Given the description of an element on the screen output the (x, y) to click on. 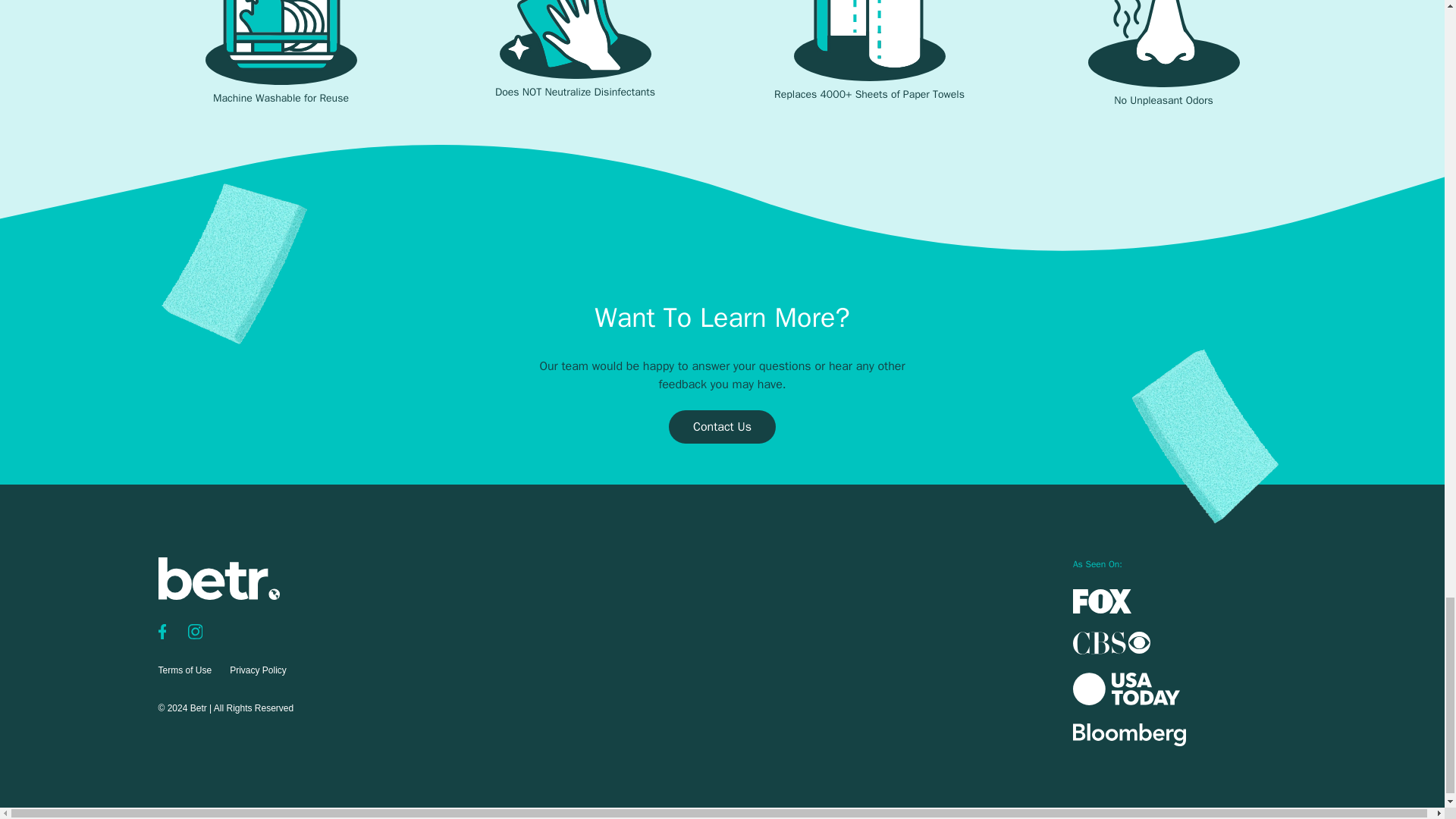
Privacy Policy (258, 670)
Contact Us (722, 426)
Terms of Use (184, 670)
